Given the description of an element on the screen output the (x, y) to click on. 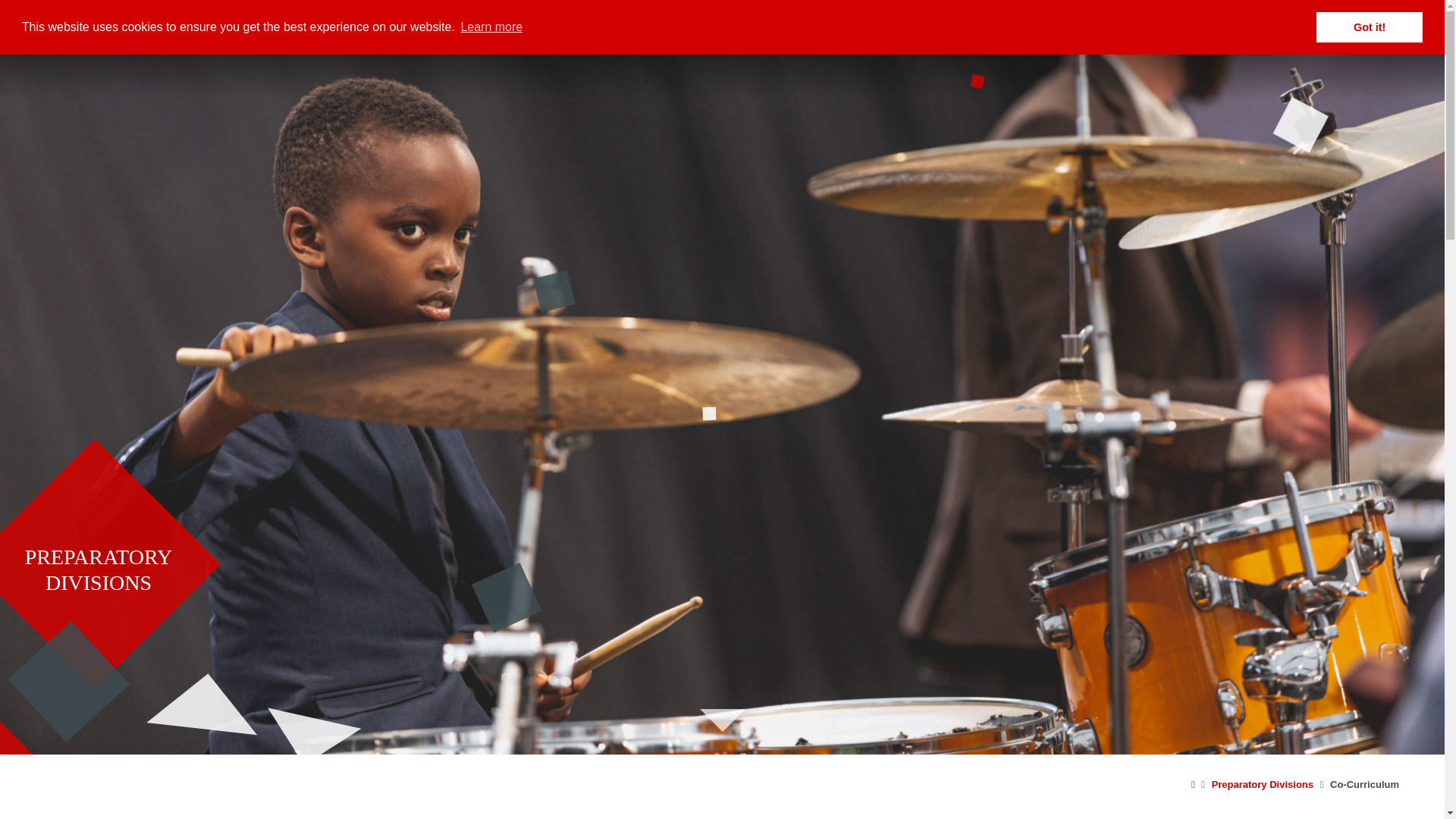
PREPARATORY DIVISIONS (98, 569)
Students (944, 18)
Jobs (1182, 18)
Term Dates (1125, 18)
Upcoming Events (1298, 18)
Learn more (491, 26)
ADMISSIONS (887, 46)
Got it! (1369, 27)
My School Portal (865, 18)
Calendar (1056, 18)
Contact (1377, 18)
Alumni (1001, 18)
News (1225, 18)
ABOUT (798, 46)
Parents (786, 18)
